Given the description of an element on the screen output the (x, y) to click on. 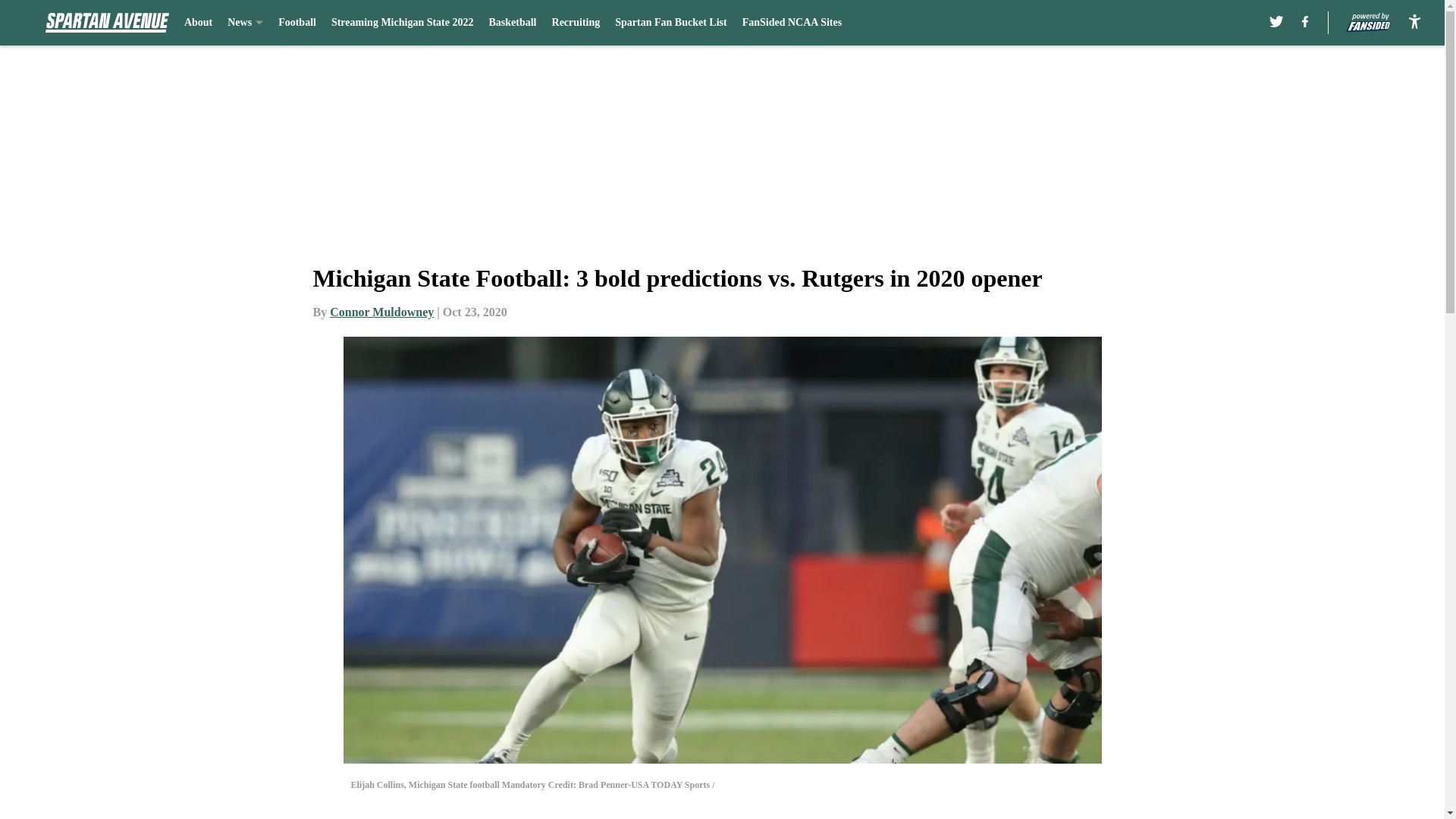
Streaming Michigan State 2022 (402, 22)
Spartan Fan Bucket List (670, 22)
Football (296, 22)
About (198, 22)
Connor Muldowney (381, 311)
Basketball (511, 22)
FanSided NCAA Sites (791, 22)
Recruiting (575, 22)
